Given the description of an element on the screen output the (x, y) to click on. 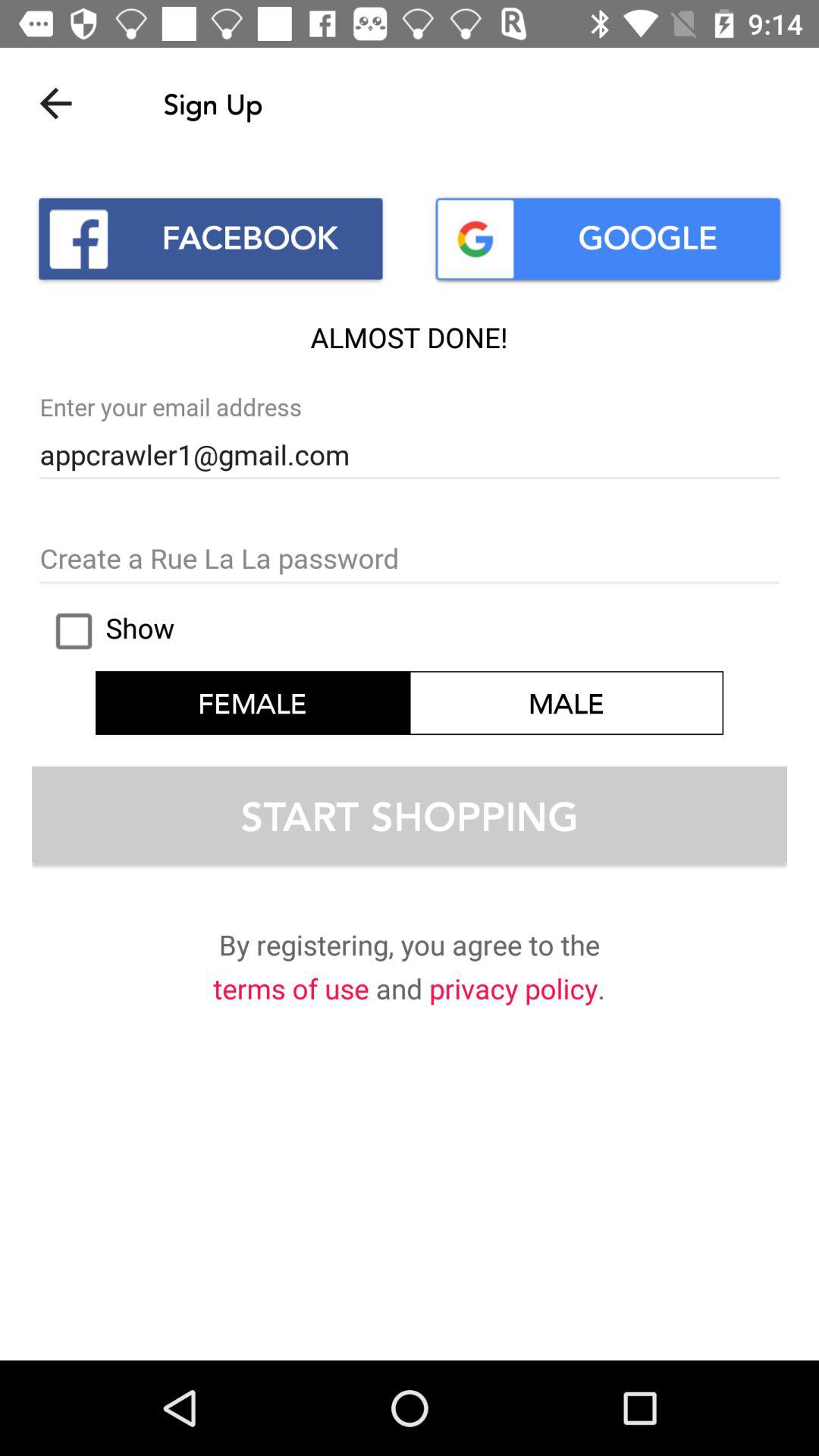
enter password (409, 559)
